Given the description of an element on the screen output the (x, y) to click on. 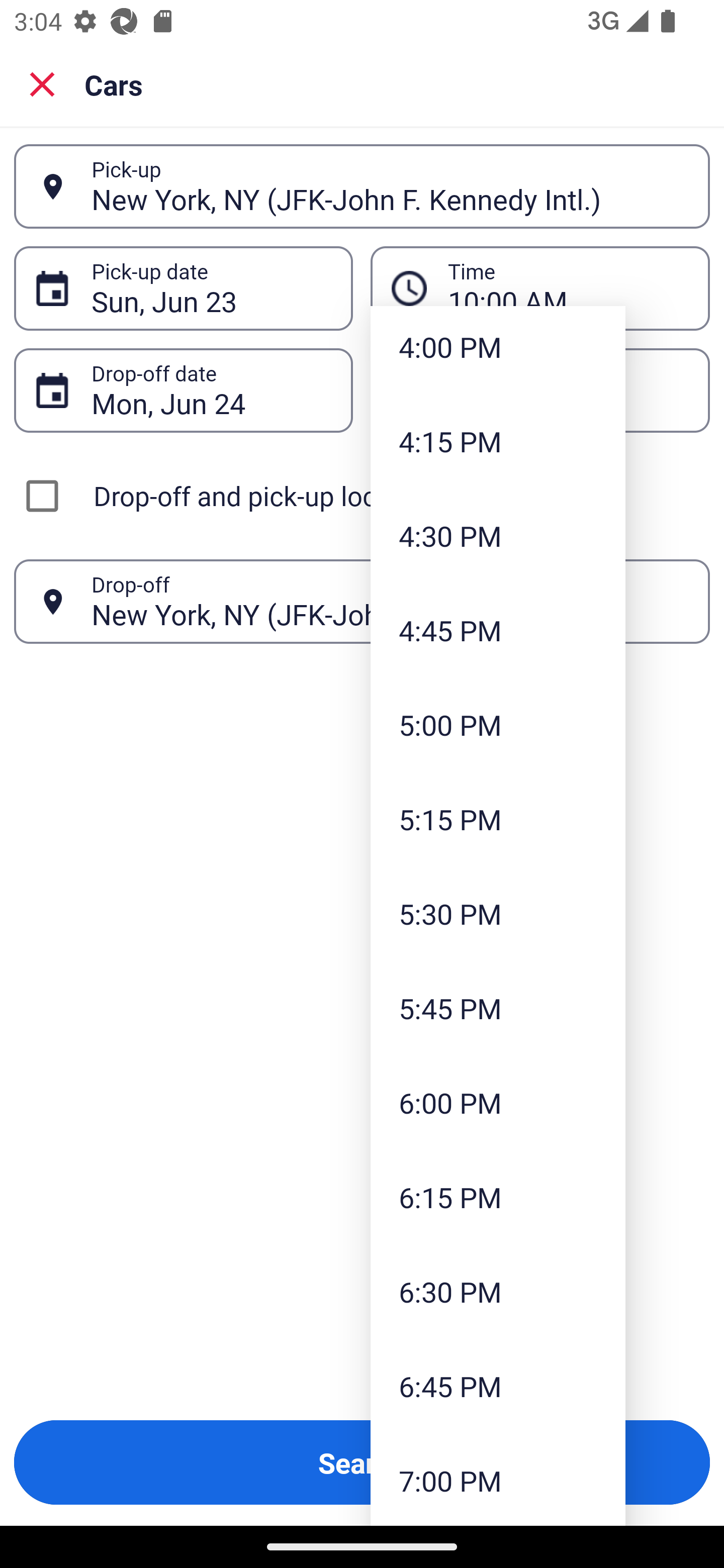
4:00 PM (497, 349)
4:15 PM (497, 441)
4:30 PM (497, 536)
4:45 PM (497, 630)
5:00 PM (497, 724)
5:15 PM (497, 819)
5:30 PM (497, 914)
5:45 PM (497, 1008)
6:00 PM (497, 1102)
6:15 PM (497, 1196)
6:30 PM (497, 1291)
6:45 PM (497, 1386)
7:00 PM (497, 1479)
